Given the description of an element on the screen output the (x, y) to click on. 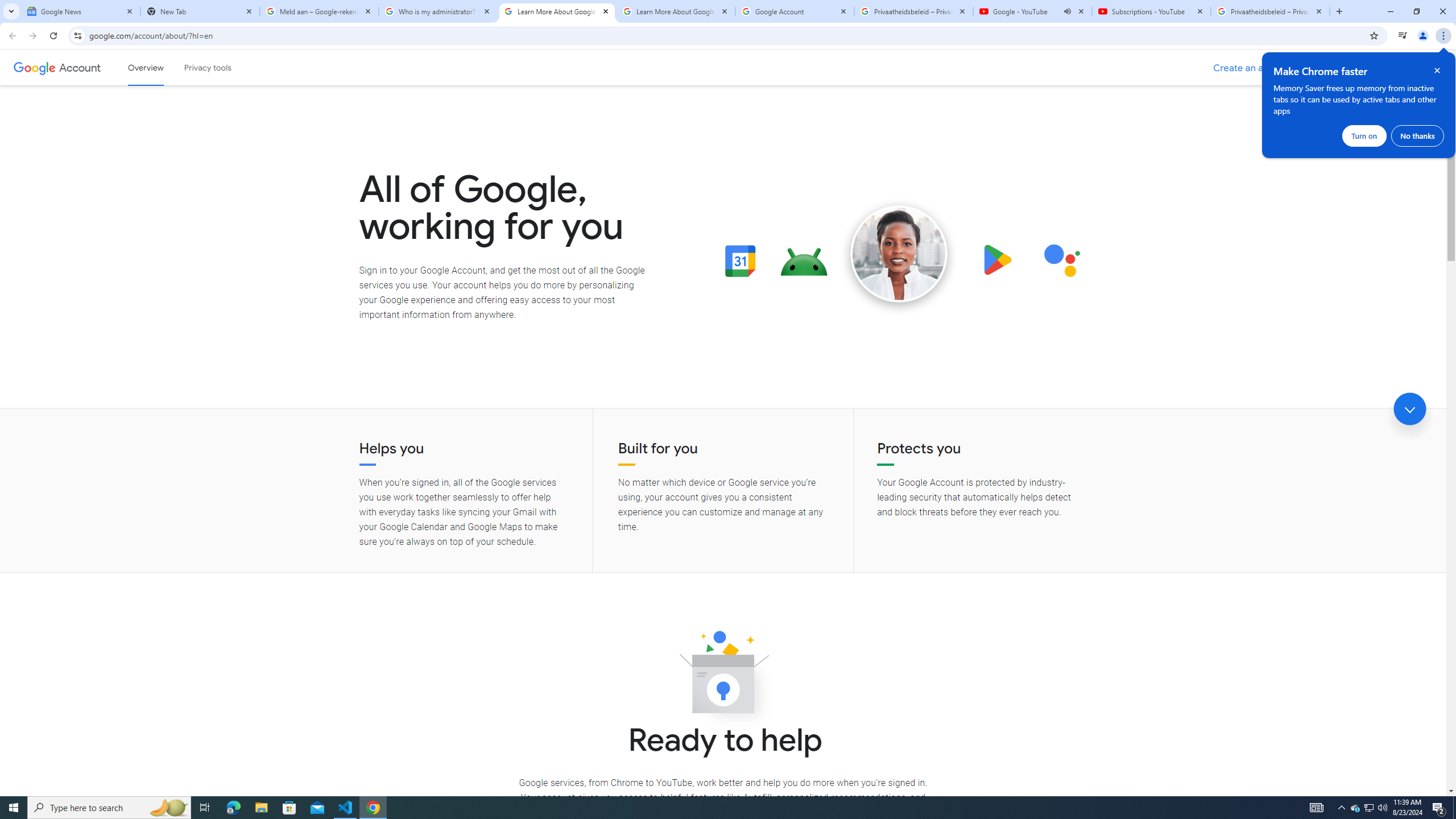
Who is my administrator? - Google Account Help (438, 11)
Google Account (80, 67)
Close help bubble (1436, 69)
Go to your Google Account (1378, 67)
Turn on (1364, 135)
Google News (80, 11)
